Given the description of an element on the screen output the (x, y) to click on. 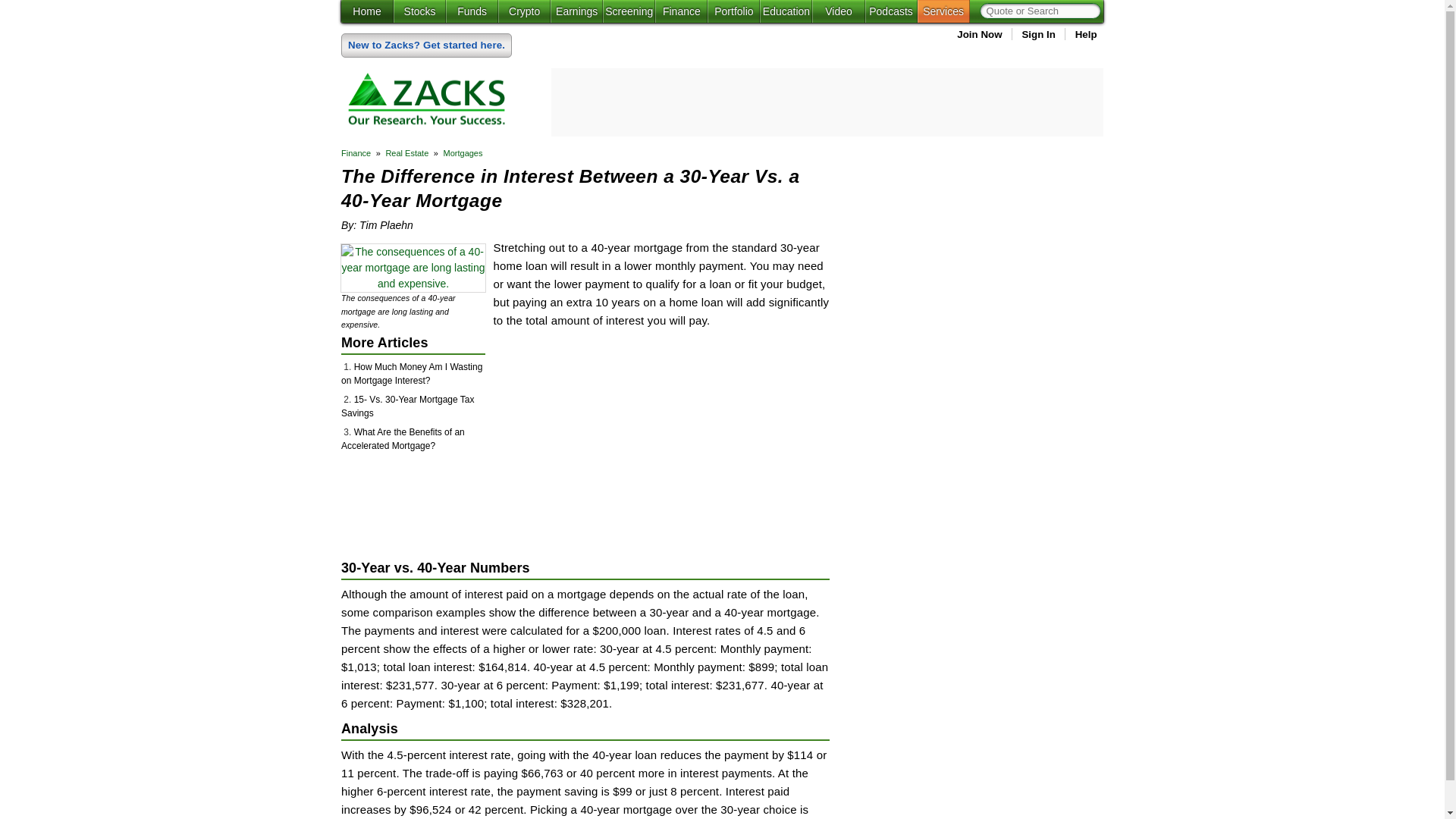
Home (366, 11)
Crypto (523, 11)
Portfolio (733, 11)
Funds (471, 11)
Screening (628, 11)
Earnings (576, 11)
Stocks (419, 11)
Finance (681, 11)
